Given the description of an element on the screen output the (x, y) to click on. 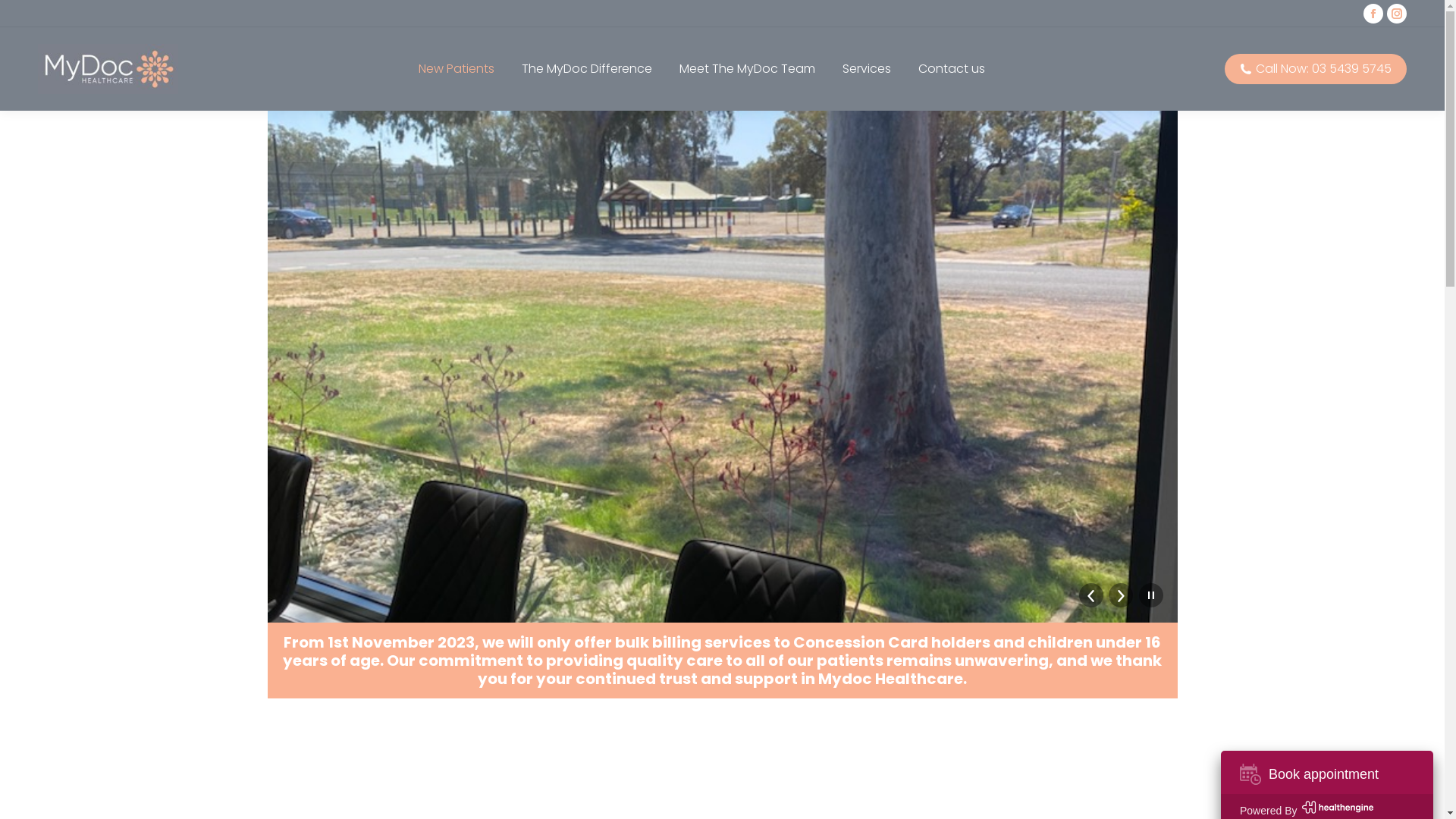
Services Element type: text (865, 68)
Contact us Element type: text (950, 68)
Meet The MyDoc Team Element type: text (747, 68)
Call Now: 03 5439 5745 Element type: text (1315, 68)
New Patients Element type: text (456, 68)
The MyDoc Difference Element type: text (586, 68)
Facebook page opens in new window Element type: text (1373, 13)
Instagram page opens in new window Element type: text (1396, 13)
